Given the description of an element on the screen output the (x, y) to click on. 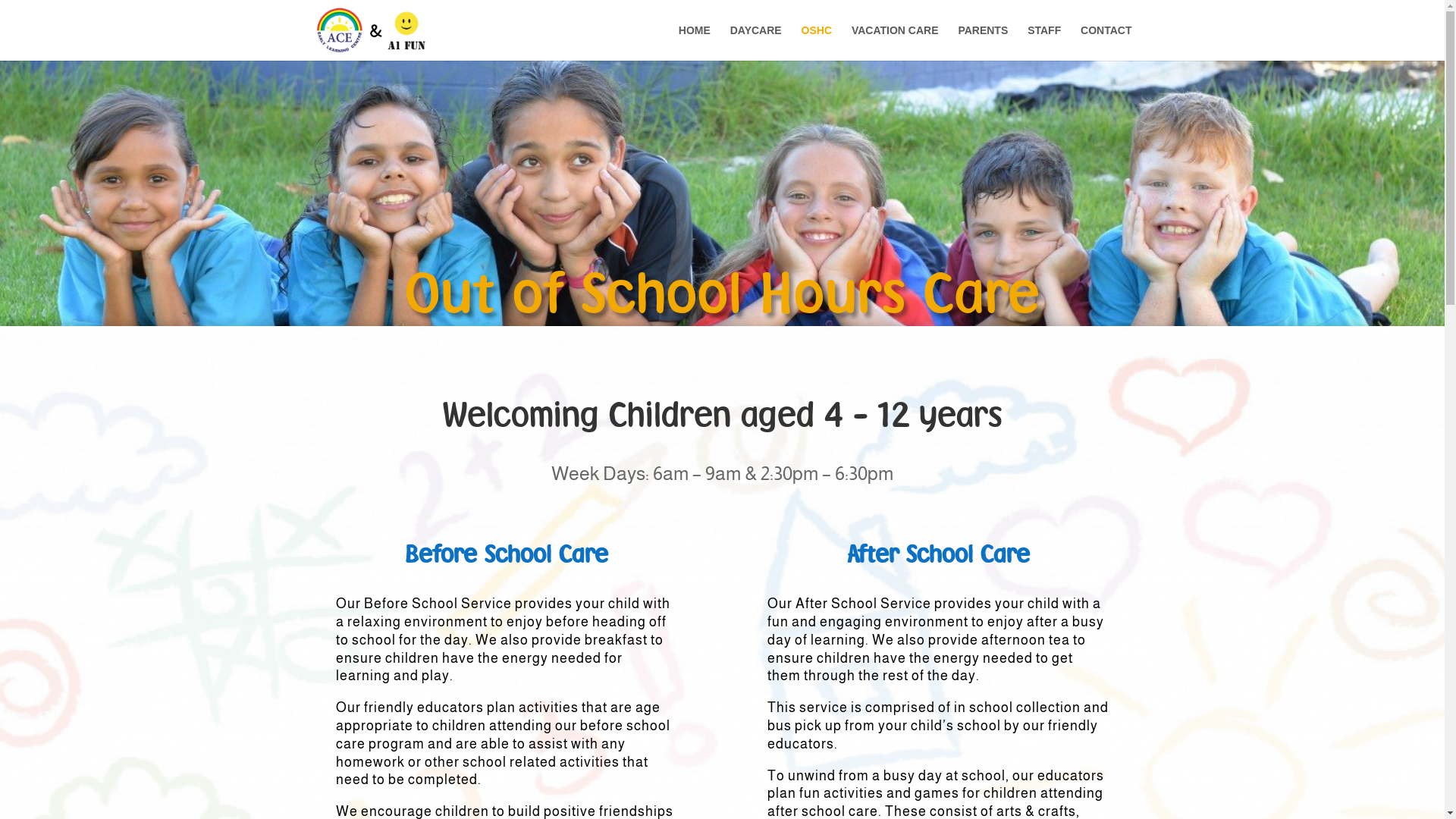
OSHC Element type: text (816, 42)
PARENTS Element type: text (982, 42)
DAYCARE Element type: text (755, 42)
HOME Element type: text (694, 42)
STAFF Element type: text (1043, 42)
CONTACT Element type: text (1105, 42)
VACATION CARE Element type: text (894, 42)
